Given the description of an element on the screen output the (x, y) to click on. 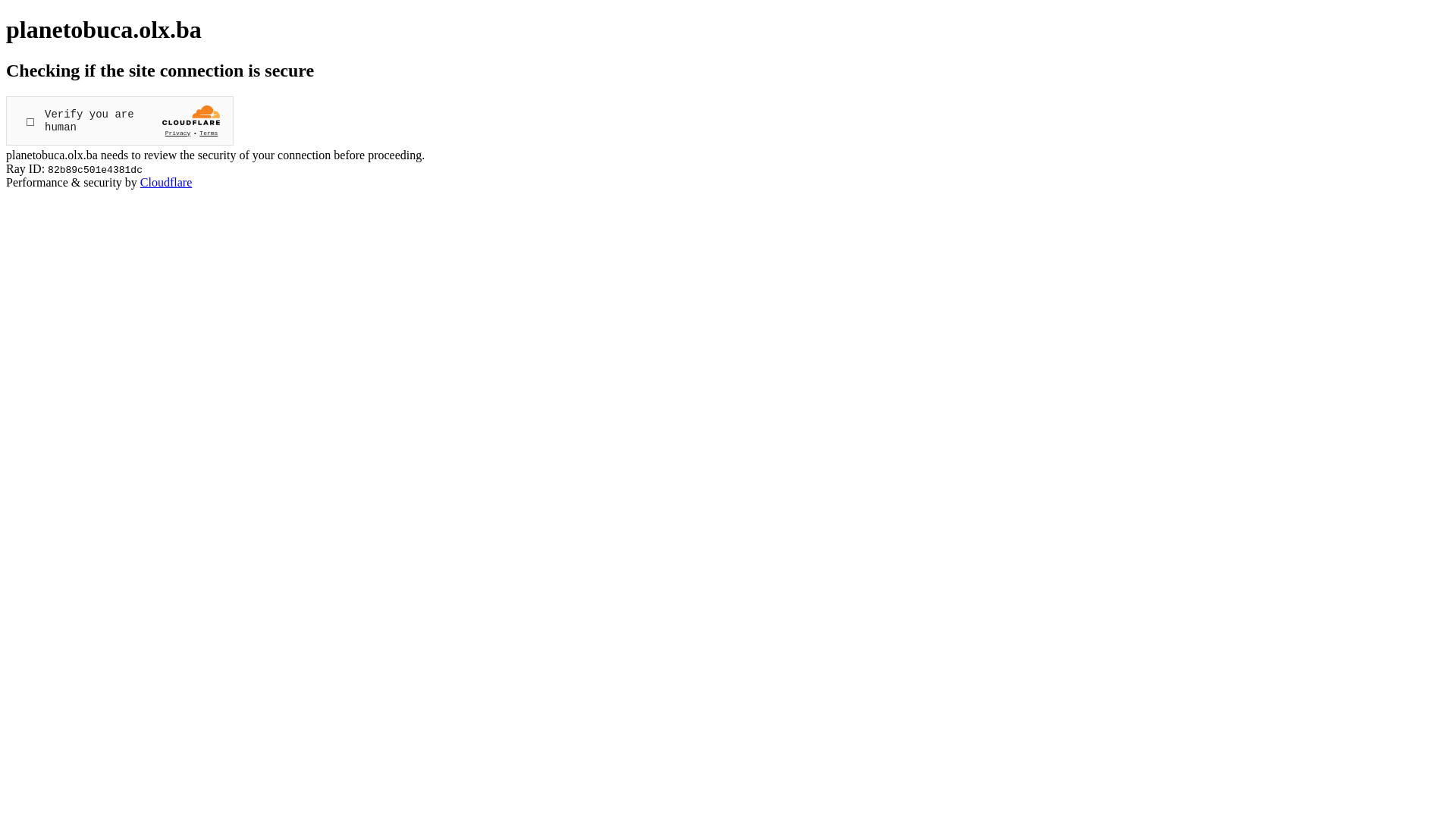
Widget containing a Cloudflare security challenge Element type: hover (119, 120)
Cloudflare Element type: text (165, 181)
